Given the description of an element on the screen output the (x, y) to click on. 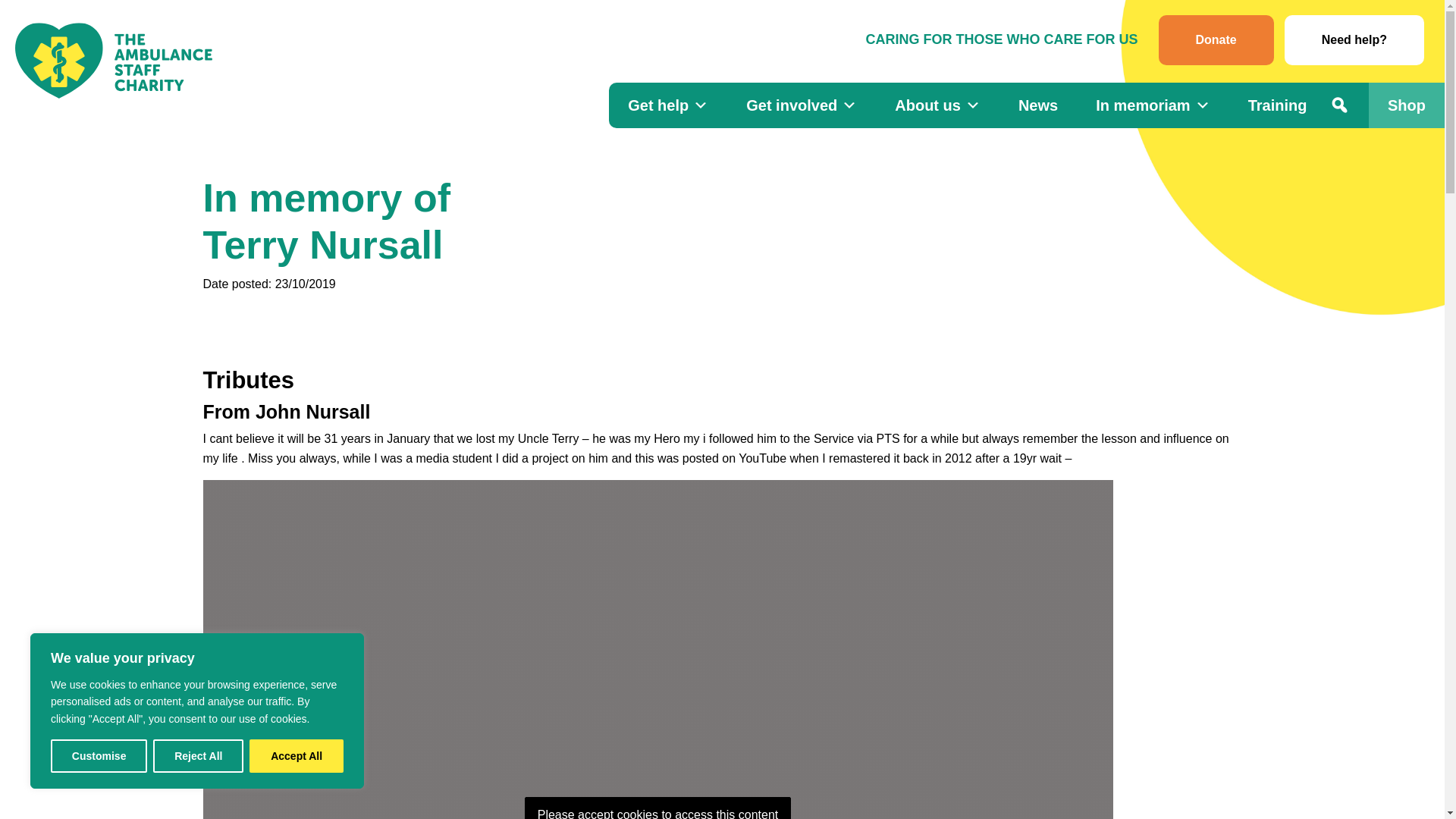
Accept All (295, 756)
Reject All (197, 756)
Need help? (1353, 40)
Donate (1216, 40)
Get help (667, 104)
Customise (98, 756)
